Given the description of an element on the screen output the (x, y) to click on. 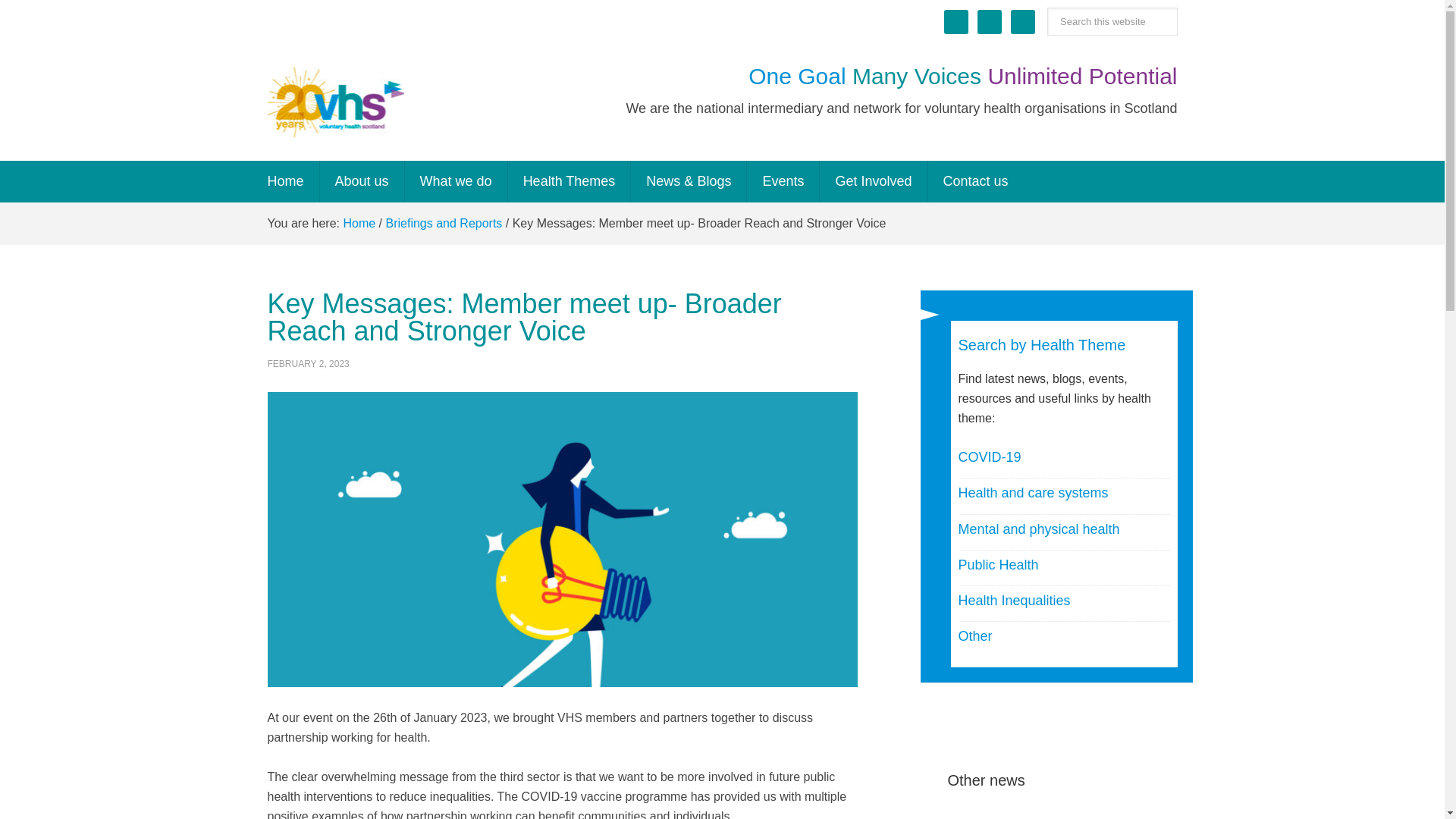
About us (362, 181)
VOLUNTARY HEALTH SCOTLAND (334, 102)
Get Involved (873, 181)
Home (284, 181)
Health Themes (569, 181)
Events (782, 181)
What we do (456, 181)
